Given the description of an element on the screen output the (x, y) to click on. 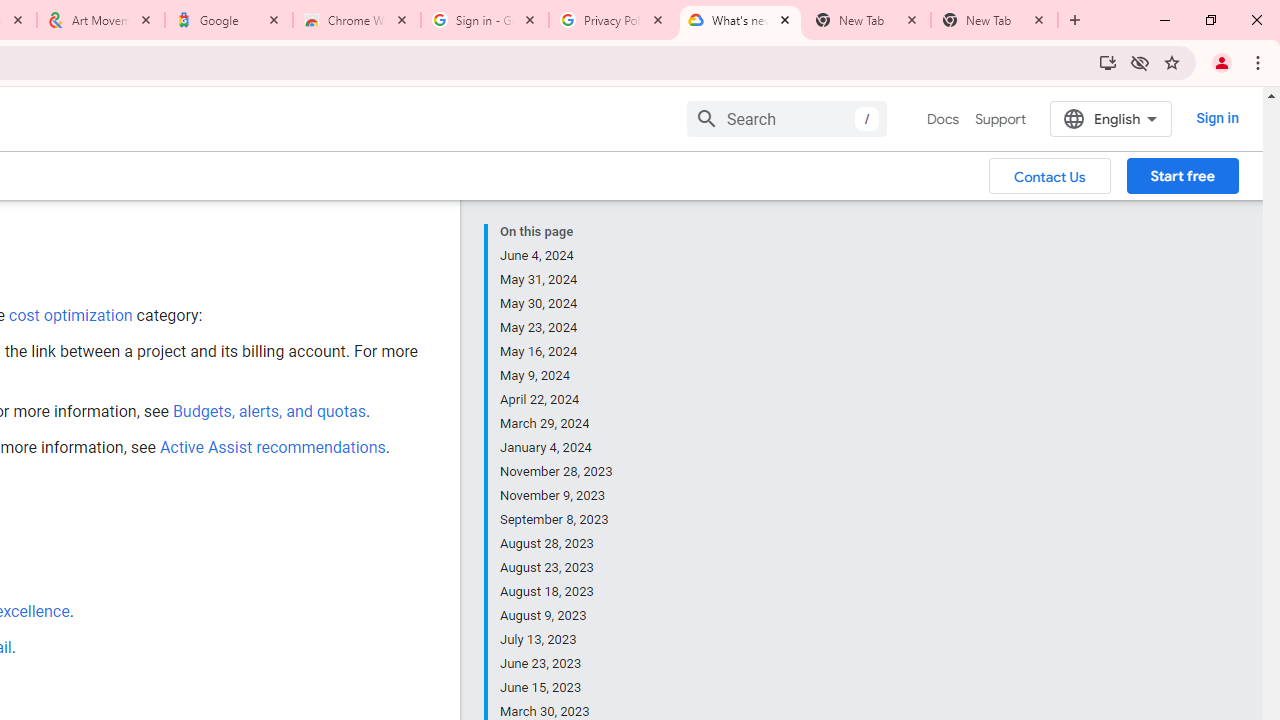
Budgets, alerts, and quotas (268, 411)
Install Google Cloud (1107, 62)
cost optimization (70, 315)
Active Assist recommendations (272, 447)
July 13, 2023 (557, 639)
August 9, 2023 (557, 615)
November 9, 2023 (557, 495)
June 23, 2023 (557, 664)
Chrome Web Store - Color themes by Chrome (357, 20)
May 9, 2024 (557, 376)
August 28, 2023 (557, 543)
May 31, 2024 (557, 279)
